Given the description of an element on the screen output the (x, y) to click on. 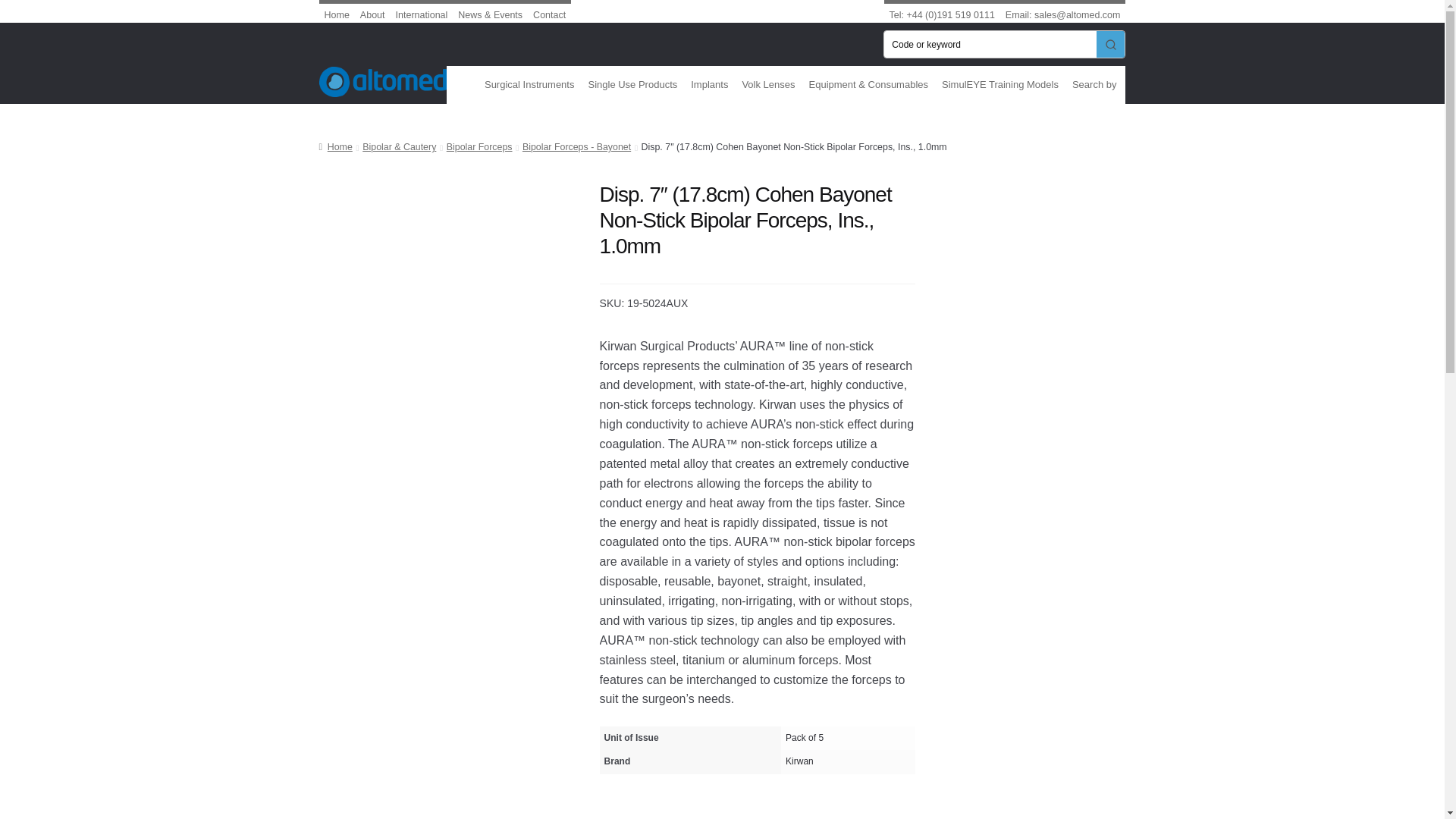
About (372, 11)
Contact (548, 11)
Home (336, 11)
International (421, 11)
Surgical Instruments (531, 85)
Code or keyword (989, 44)
Go (1110, 44)
Code or keyword (989, 44)
